Given the description of an element on the screen output the (x, y) to click on. 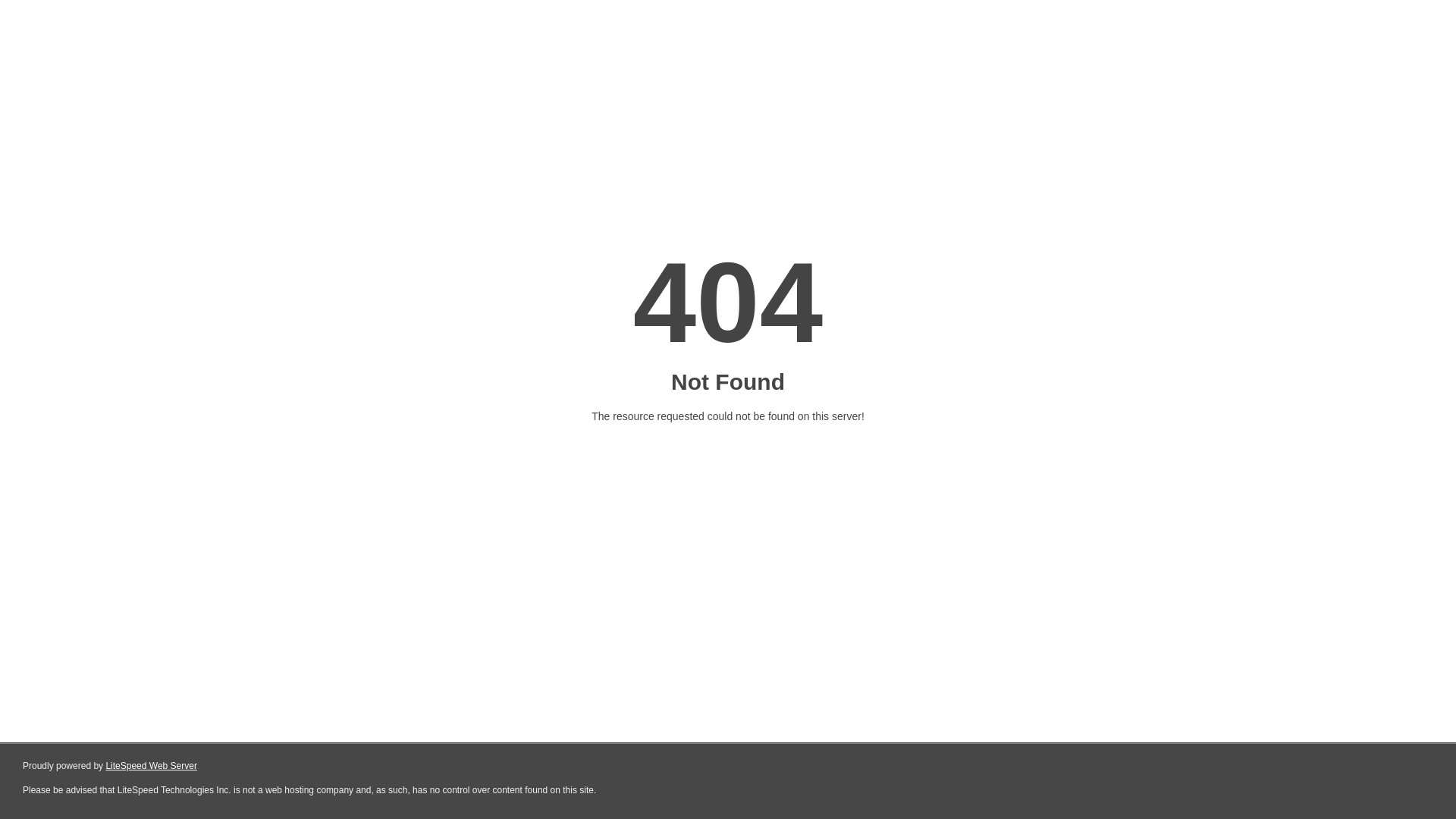
LiteSpeed Web Server Element type: text (151, 765)
